Given the description of an element on the screen output the (x, y) to click on. 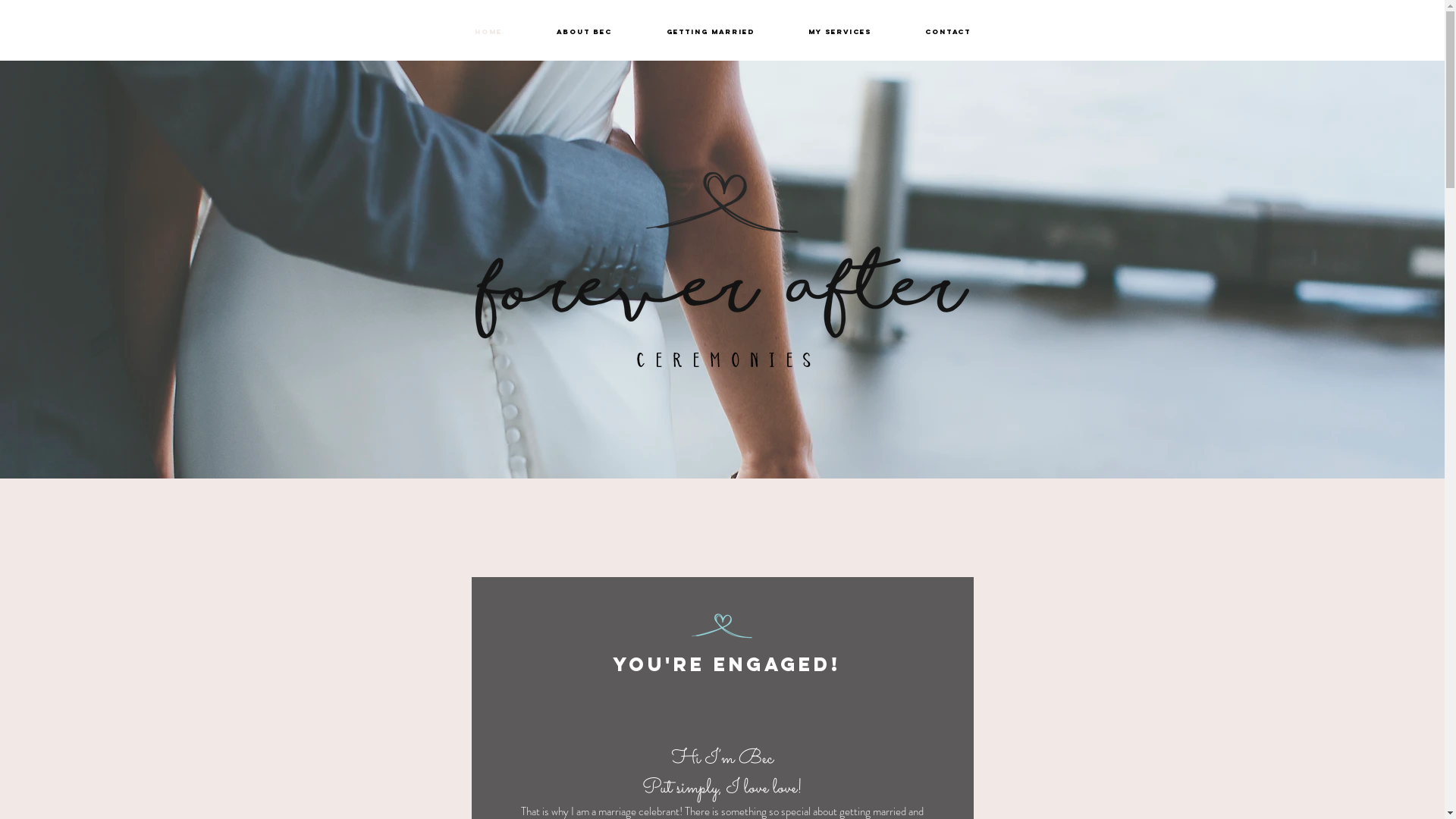
Getting Married Element type: text (709, 31)
My Services Element type: text (839, 31)
Contact Element type: text (947, 31)
About Bec Element type: text (584, 31)
Home Element type: text (488, 31)
